Given the description of an element on the screen output the (x, y) to click on. 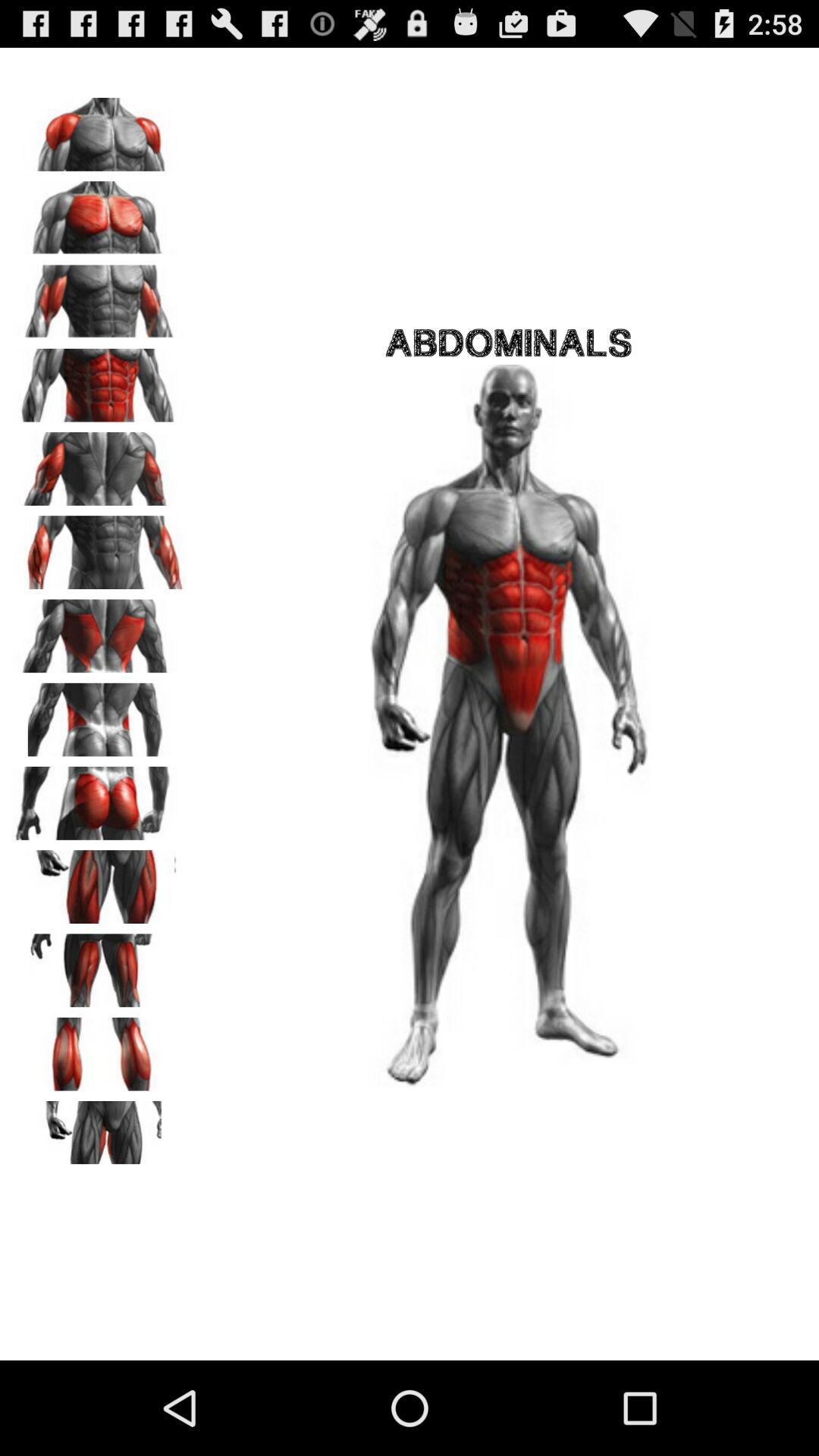
change the view on the image (99, 630)
